Given the description of an element on the screen output the (x, y) to click on. 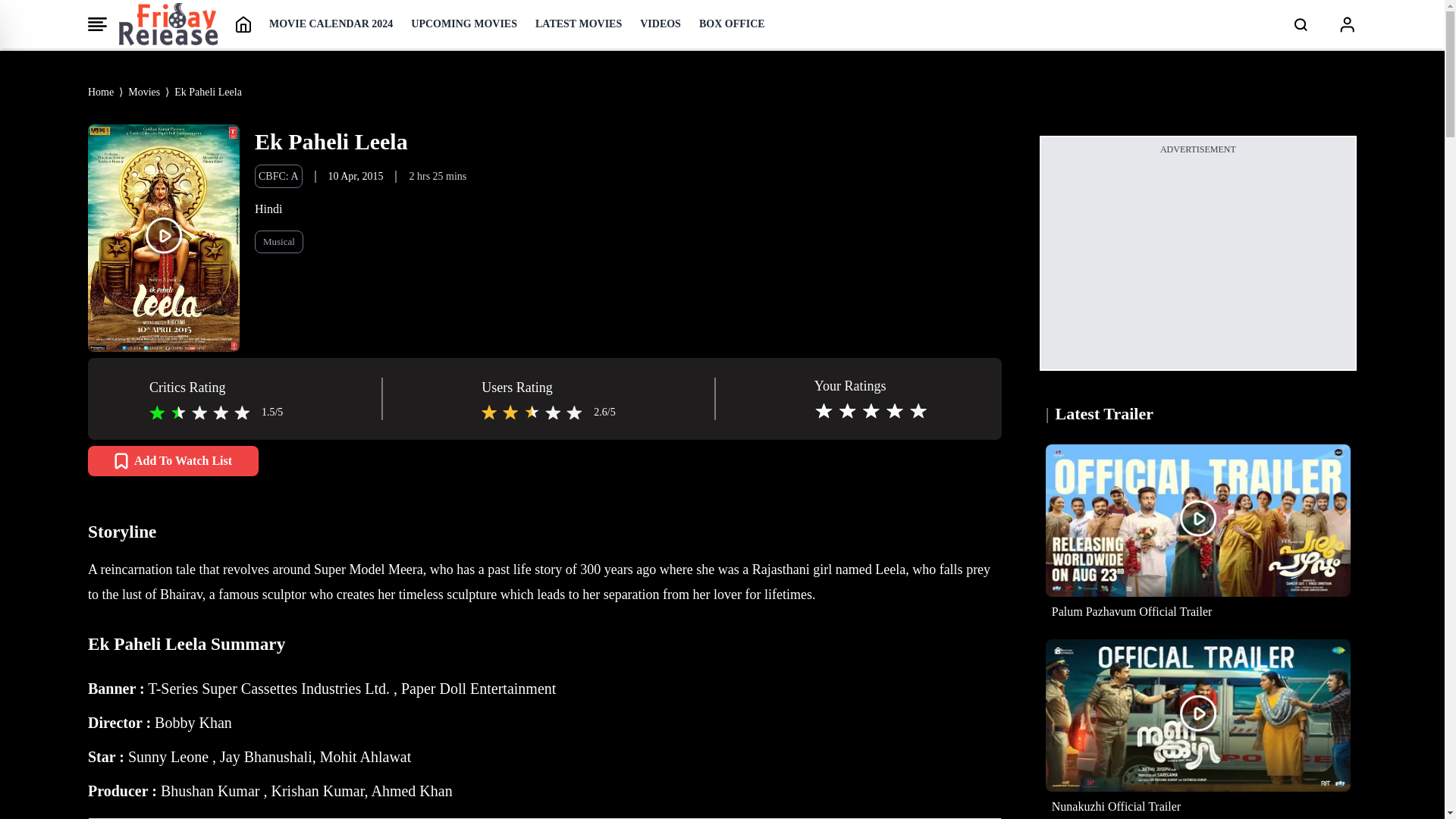
VIDEOS (660, 23)
MOVIE CALENDAR 2024 (331, 23)
LATEST MOVIES (578, 23)
UPCOMING MOVIES (463, 23)
BOX OFFICE (731, 23)
